Given the description of an element on the screen output the (x, y) to click on. 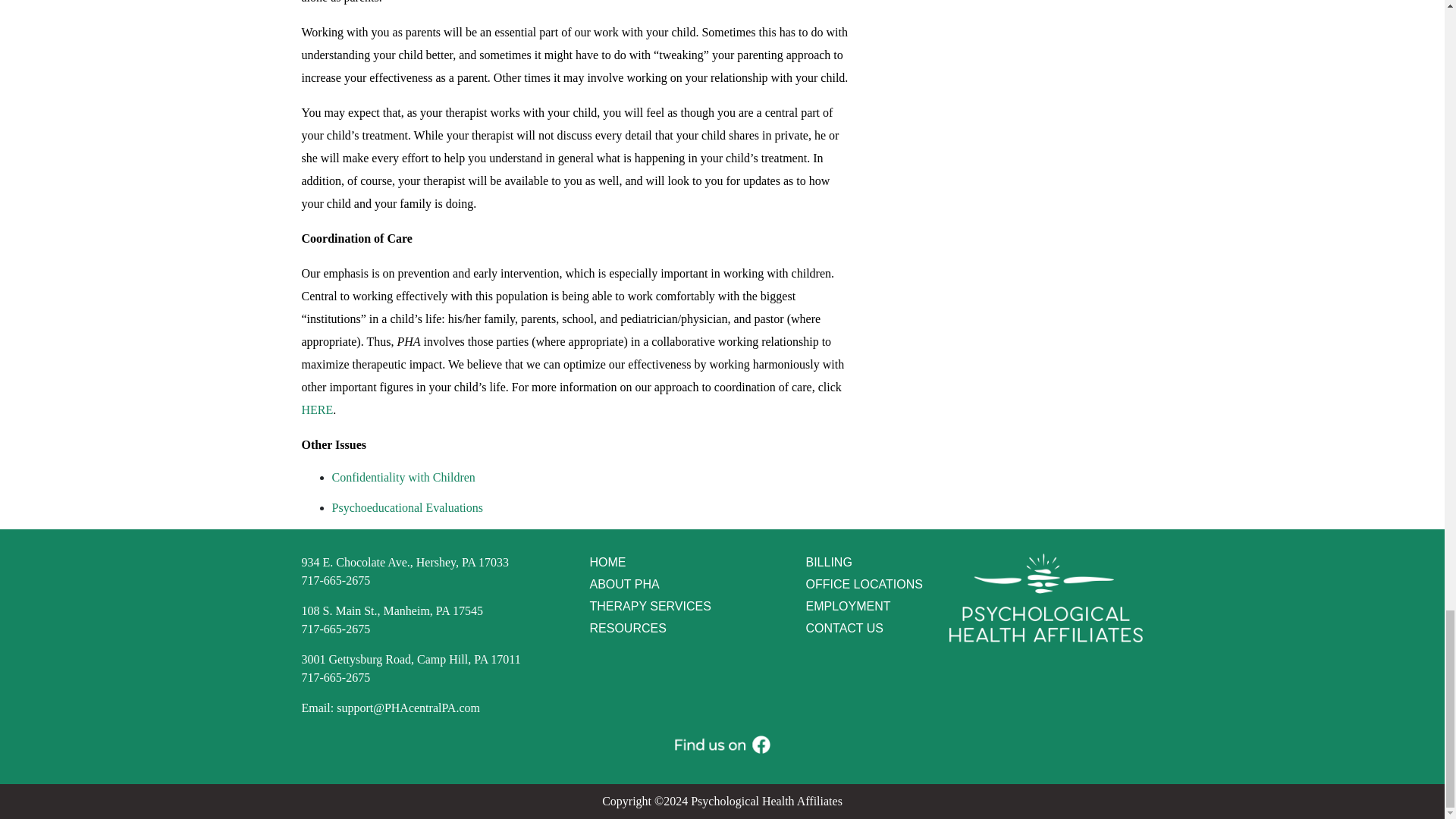
Psychoeducational Evaluations (407, 507)
HERE (411, 667)
Confidentiality with Children (317, 409)
